Given the description of an element on the screen output the (x, y) to click on. 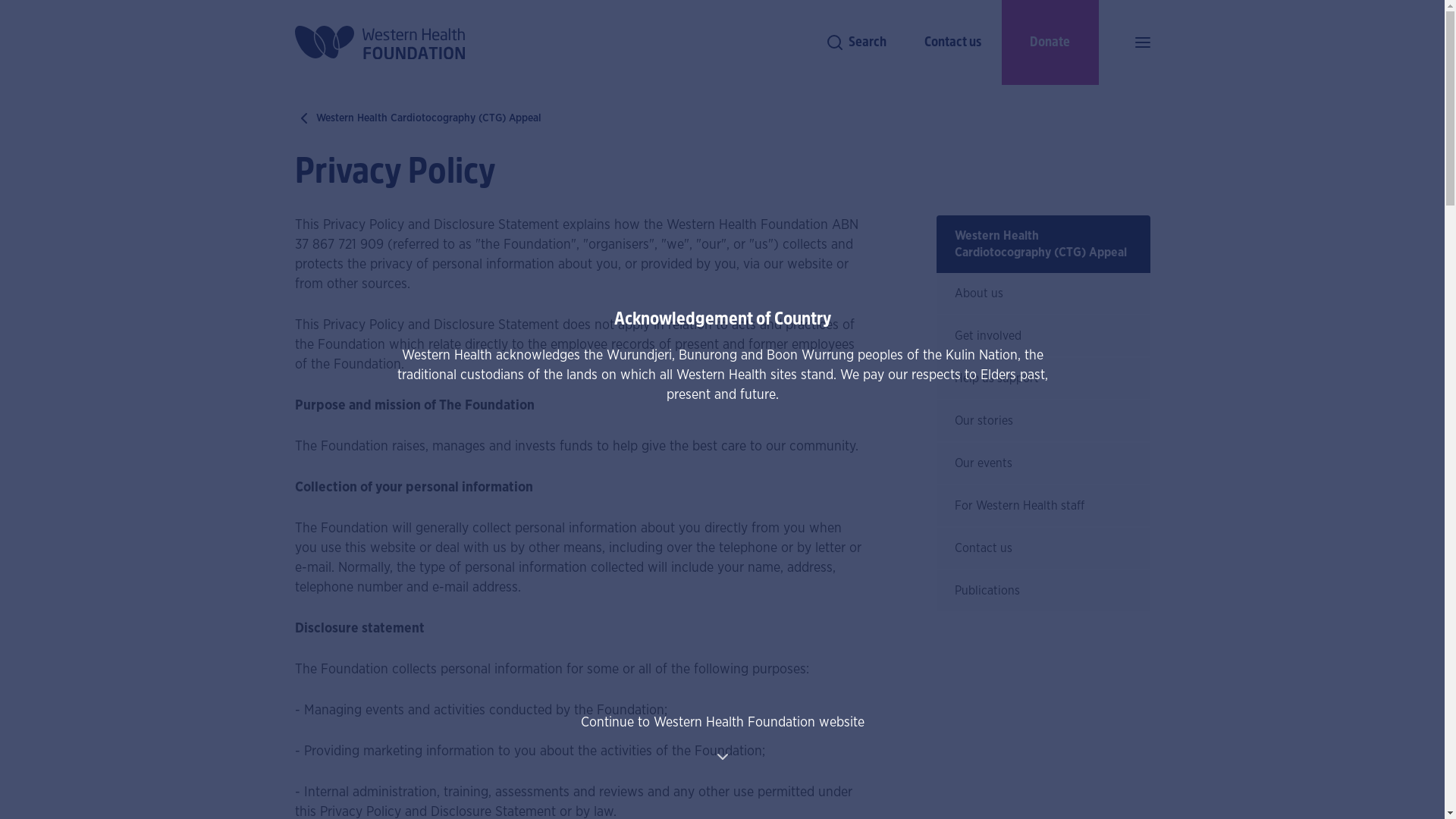
Publications Element type: text (1042, 591)
Donate Element type: text (1049, 42)
Help us support Element type: text (1042, 378)
Contact us Element type: text (1042, 548)
About us Element type: text (1042, 294)
Western Health Cardiotocography (CTG) Appeal Element type: text (417, 118)
Search Element type: text (854, 42)
Get involved Element type: text (1042, 336)
Our stories Element type: text (1042, 421)
For Western Health staff Element type: text (1042, 506)
Western Health Cardiotocography (CTG) Appeal Element type: text (1042, 244)
Our events Element type: text (1042, 463)
Show Menu Element type: text (1142, 42)
Contact us Element type: text (952, 42)
